Given the description of an element on the screen output the (x, y) to click on. 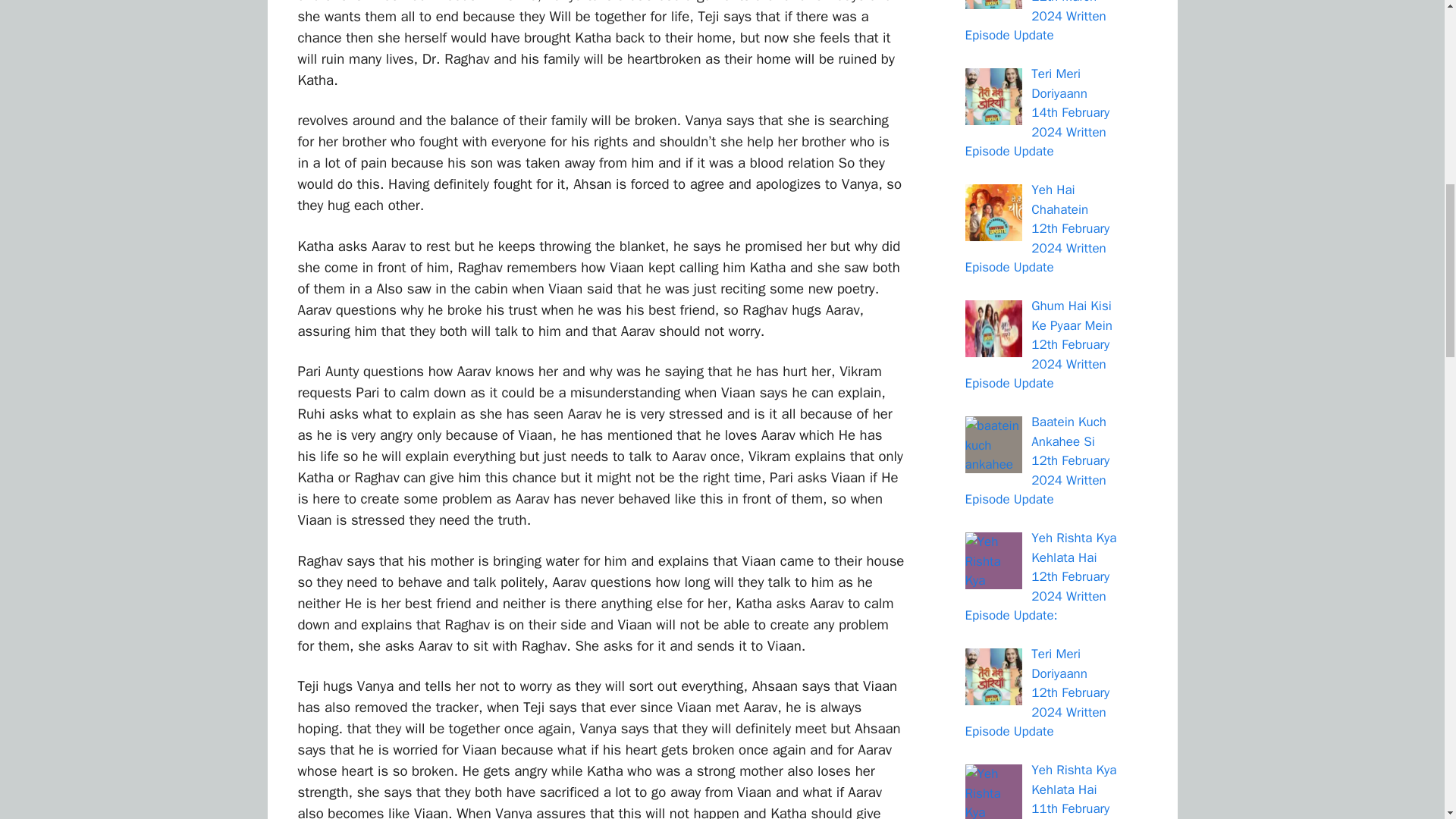
Scroll back to top (1406, 720)
